Given the description of an element on the screen output the (x, y) to click on. 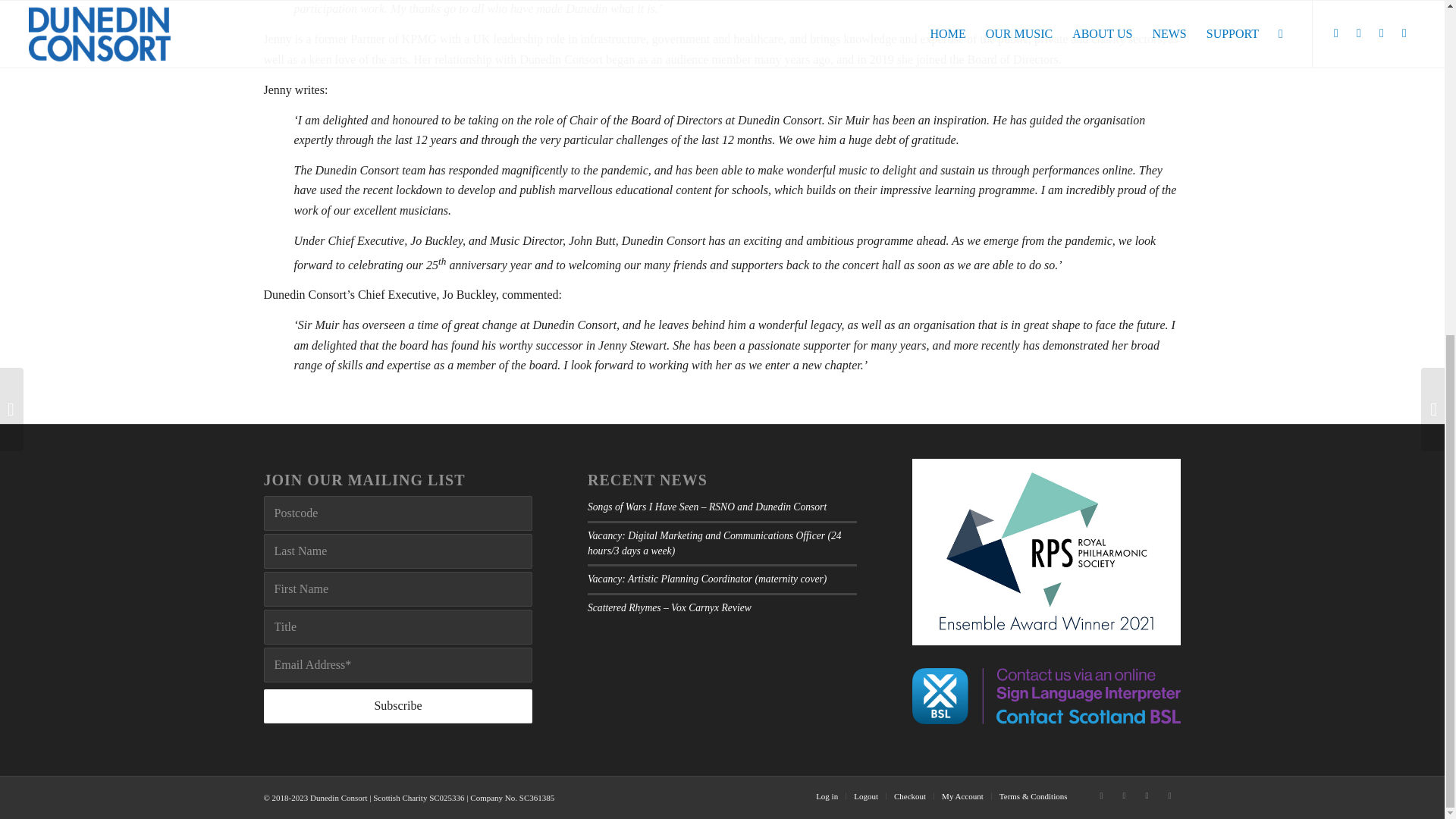
Subscribe (397, 706)
Facebook (1124, 794)
Instagram (1146, 794)
Youtube (1169, 794)
Twitter (1101, 794)
